Given the description of an element on the screen output the (x, y) to click on. 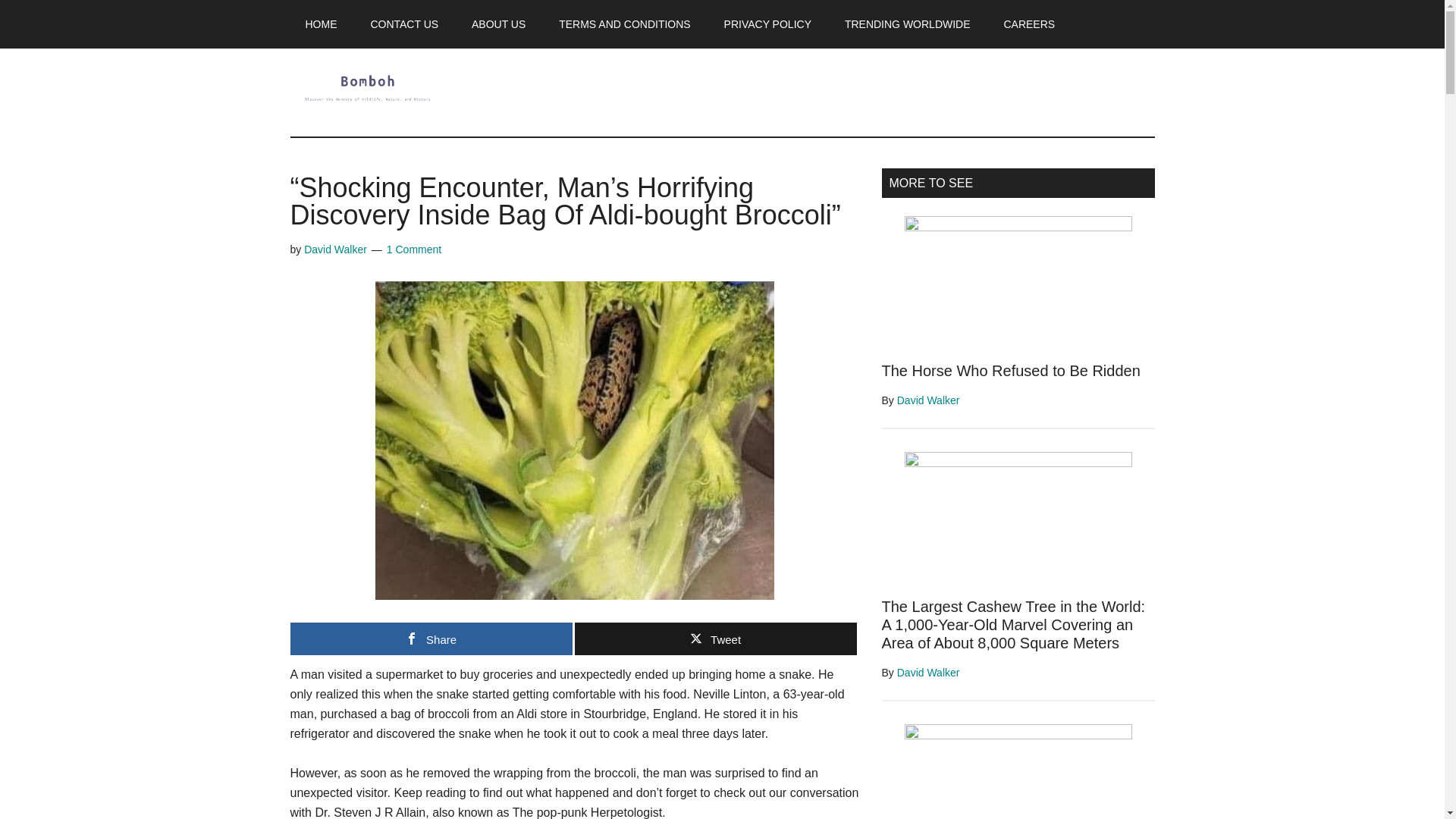
Tweet (716, 638)
HOME (320, 24)
David Walker (927, 672)
CONTACT US (403, 24)
1 Comment (414, 249)
David Walker (335, 249)
TERMS AND CONDITIONS (623, 24)
PRIVACY POLICY (768, 24)
CAREERS (1029, 24)
David Walker (927, 399)
TRENDING WORLDWIDE (907, 24)
ABOUT US (498, 24)
Share (430, 638)
